Given the description of an element on the screen output the (x, y) to click on. 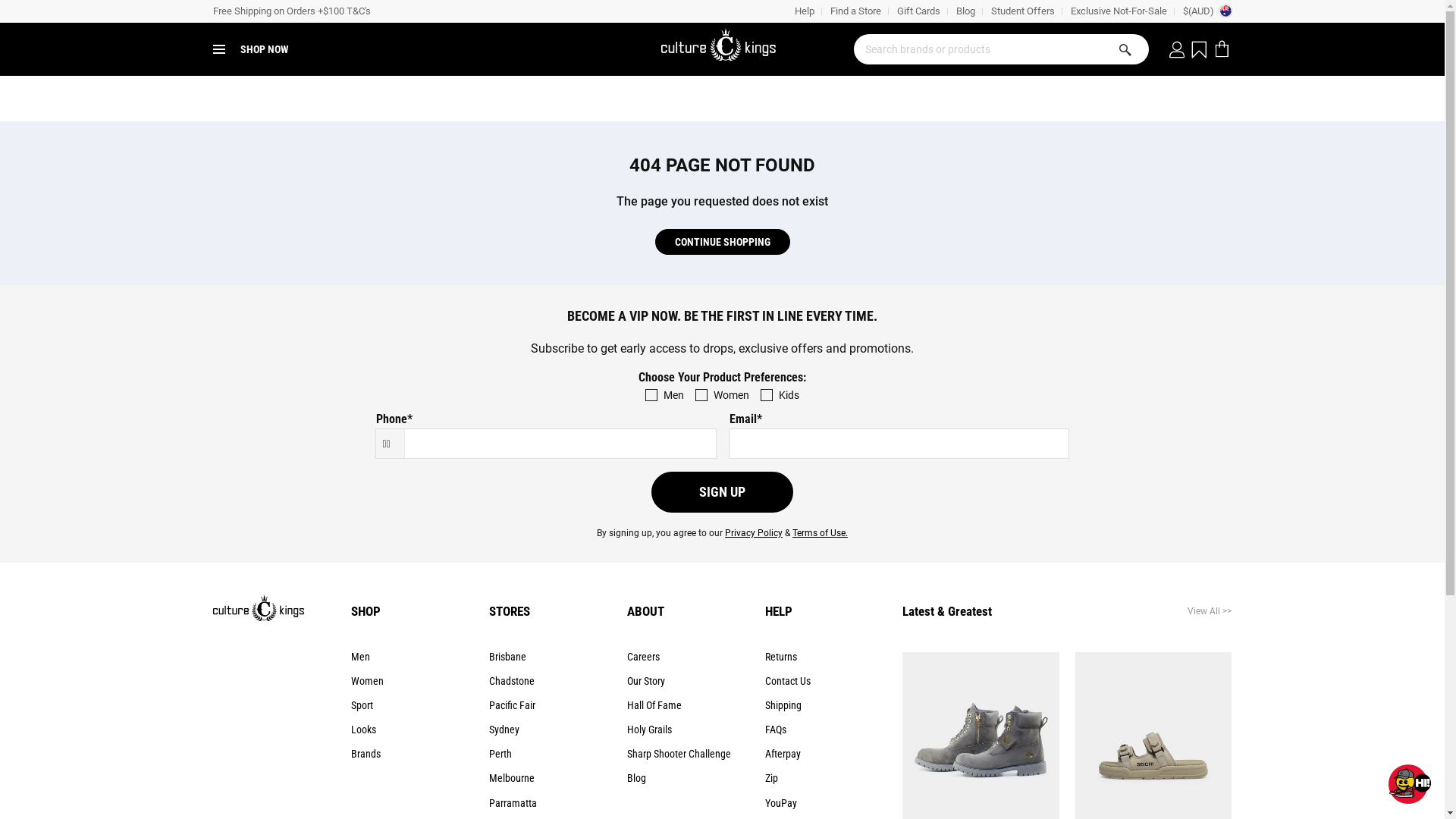
Pacific Fair Element type: text (512, 705)
HELP Element type: text (777, 610)
Cart Element type: text (1225, 48)
YouPay Element type: text (780, 803)
Open account menu Element type: hover (1176, 48)
View All >> Element type: text (1153, 611)
Culture Kings Element type: hover (258, 617)
Terms of Use. Element type: text (819, 532)
FAQs Element type: text (774, 729)
Brands Element type: text (365, 753)
Culture Kings Element type: hover (722, 49)
Contact Us Element type: text (786, 680)
Find a Store Element type: text (855, 11)
Women Element type: text (367, 680)
Perth Element type: text (500, 753)
Melbourne Element type: text (511, 777)
Afterpay Element type: text (782, 753)
Privacy Policy Element type: text (753, 532)
Men Element type: text (360, 656)
Brisbane Element type: text (507, 656)
Exclusive Not-For-Sale Element type: text (1118, 11)
Submit Element type: hover (1124, 50)
Sharp Shooter Challenge Element type: text (679, 753)
Hall Of Fame Element type: text (654, 705)
Holy Grails Element type: text (649, 729)
SHOP NOW Element type: text (250, 48)
Zip Element type: text (770, 777)
Free Shipping on Orders +$100 T&C's Element type: text (291, 10)
Sport Element type: text (362, 705)
Help Element type: text (804, 11)
Our Story Element type: text (646, 680)
Gift Cards Element type: text (917, 11)
Returns Element type: text (780, 656)
Chadstone Element type: text (511, 680)
wishlist Element type: hover (1196, 48)
Shipping Element type: text (782, 705)
CONTINUE SHOPPING Element type: text (722, 241)
Sydney Element type: text (504, 729)
SIGN UP Element type: text (722, 491)
Blog Element type: text (964, 11)
Student Offers Element type: text (1022, 11)
$(AUD) Element type: text (1207, 10)
Blog Element type: text (636, 777)
Careers Element type: text (643, 656)
Parramatta Element type: text (512, 803)
Looks Element type: text (363, 729)
